Given the description of an element on the screen output the (x, y) to click on. 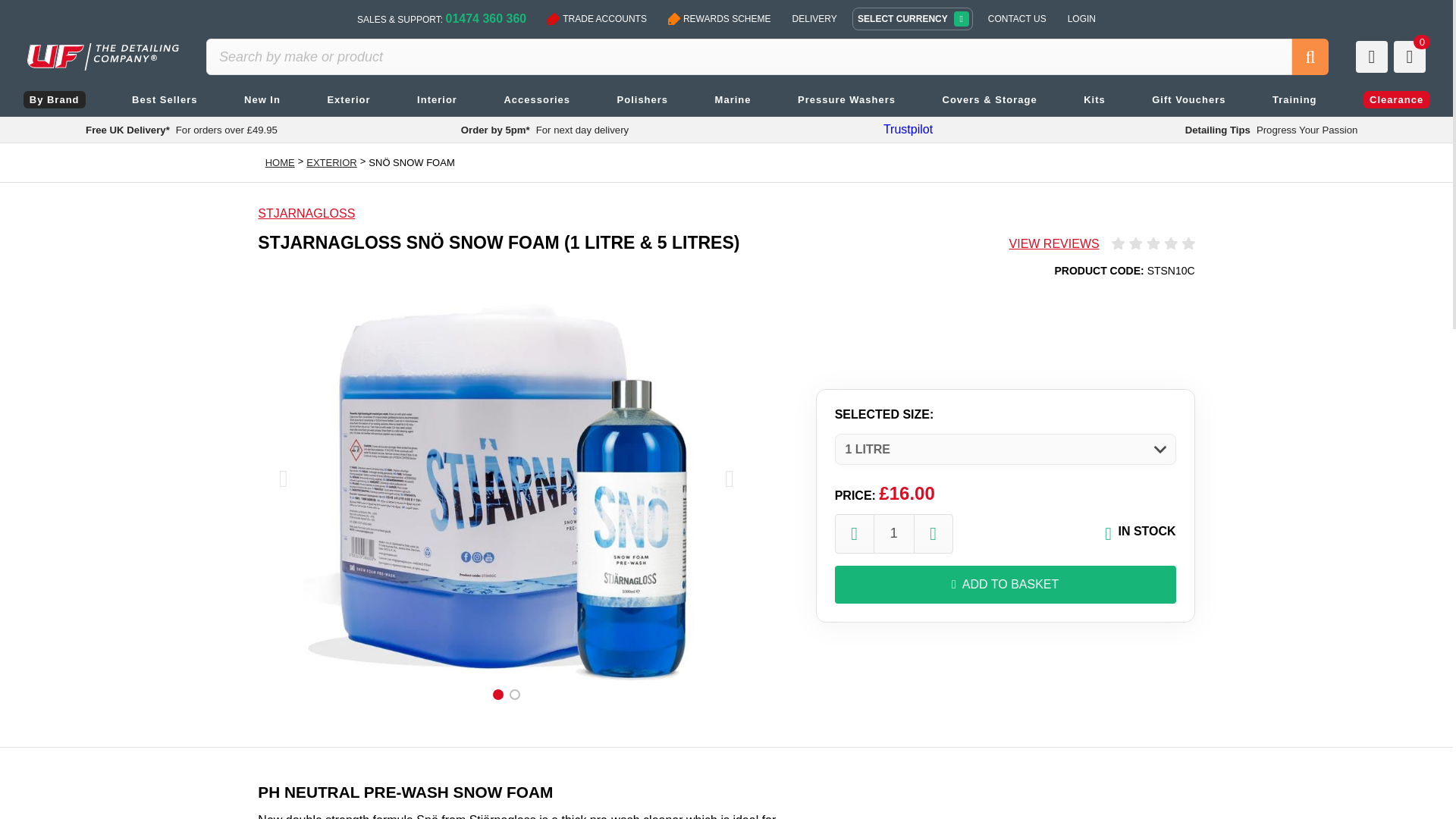
DELIVERY (814, 18)
By Brand (53, 99)
REWARDS SCHEME (719, 18)
LOGIN (1081, 18)
New In (261, 99)
Best Sellers (164, 99)
Exterior (349, 99)
CONTACT US (1016, 18)
0 (1409, 56)
1 (894, 533)
TRADE ACCOUNTS (596, 18)
